Given the description of an element on the screen output the (x, y) to click on. 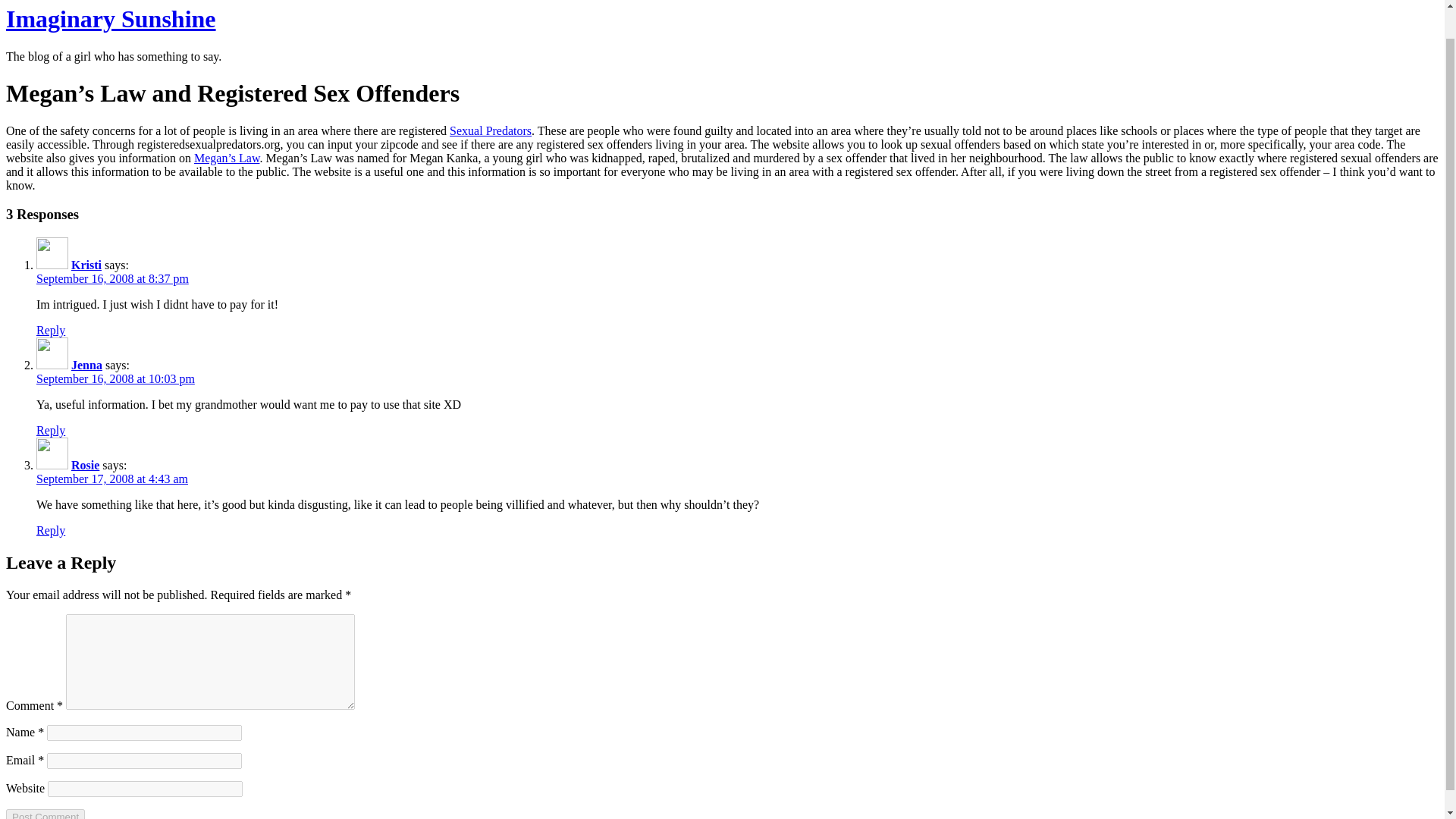
Reply (50, 430)
Sexual Predators (490, 130)
Jenna (86, 364)
Kristi (86, 264)
September 17, 2008 at 4:43 am (111, 478)
Reply (50, 329)
Imaginary Sunshine (110, 18)
September 16, 2008 at 8:37 pm (112, 278)
Rosie (85, 464)
Home (110, 18)
